Given the description of an element on the screen output the (x, y) to click on. 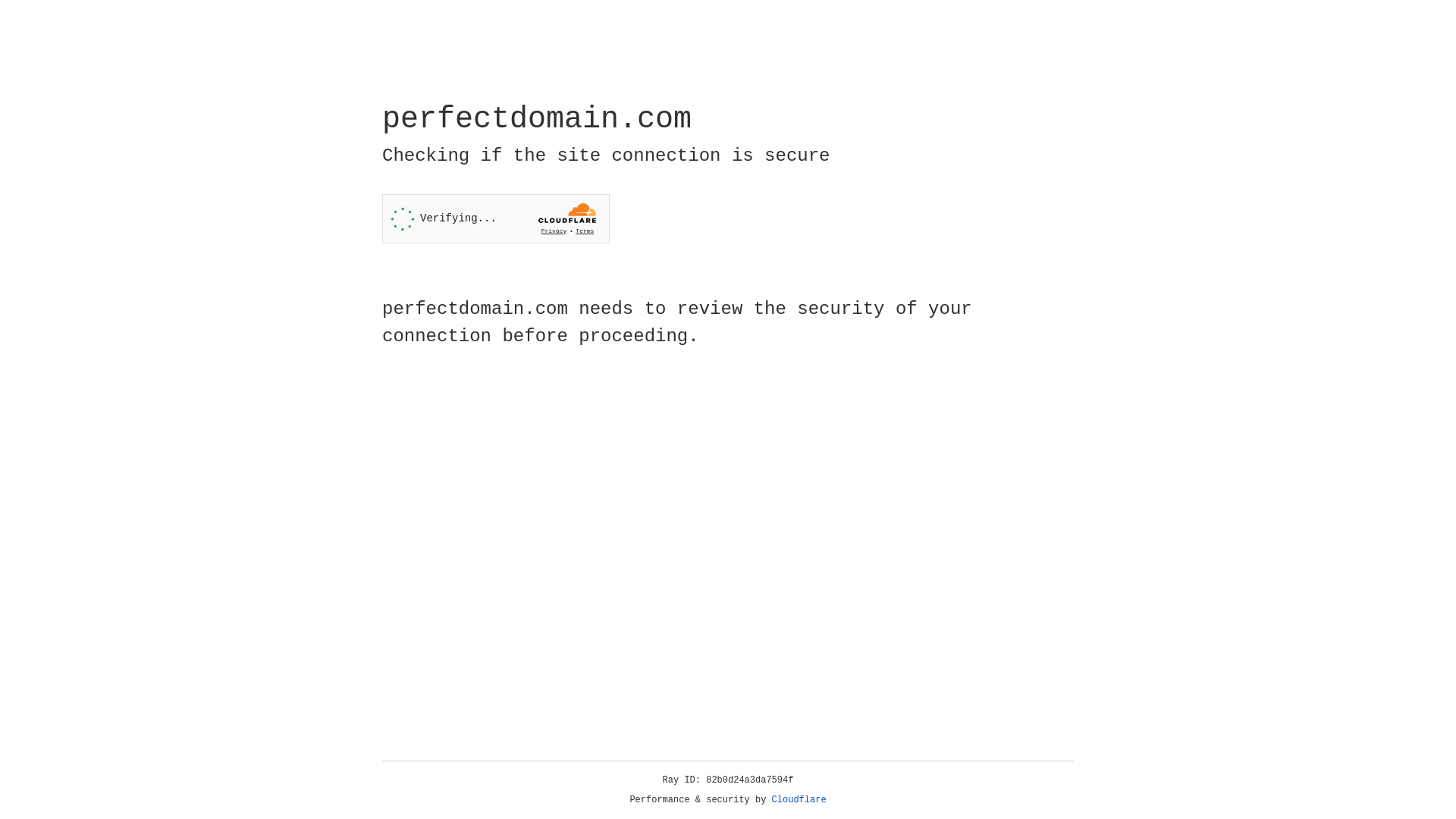
Widget containing a Cloudflare security challenge Element type: hover (495, 218)
Cloudflare Element type: text (798, 799)
